Given the description of an element on the screen output the (x, y) to click on. 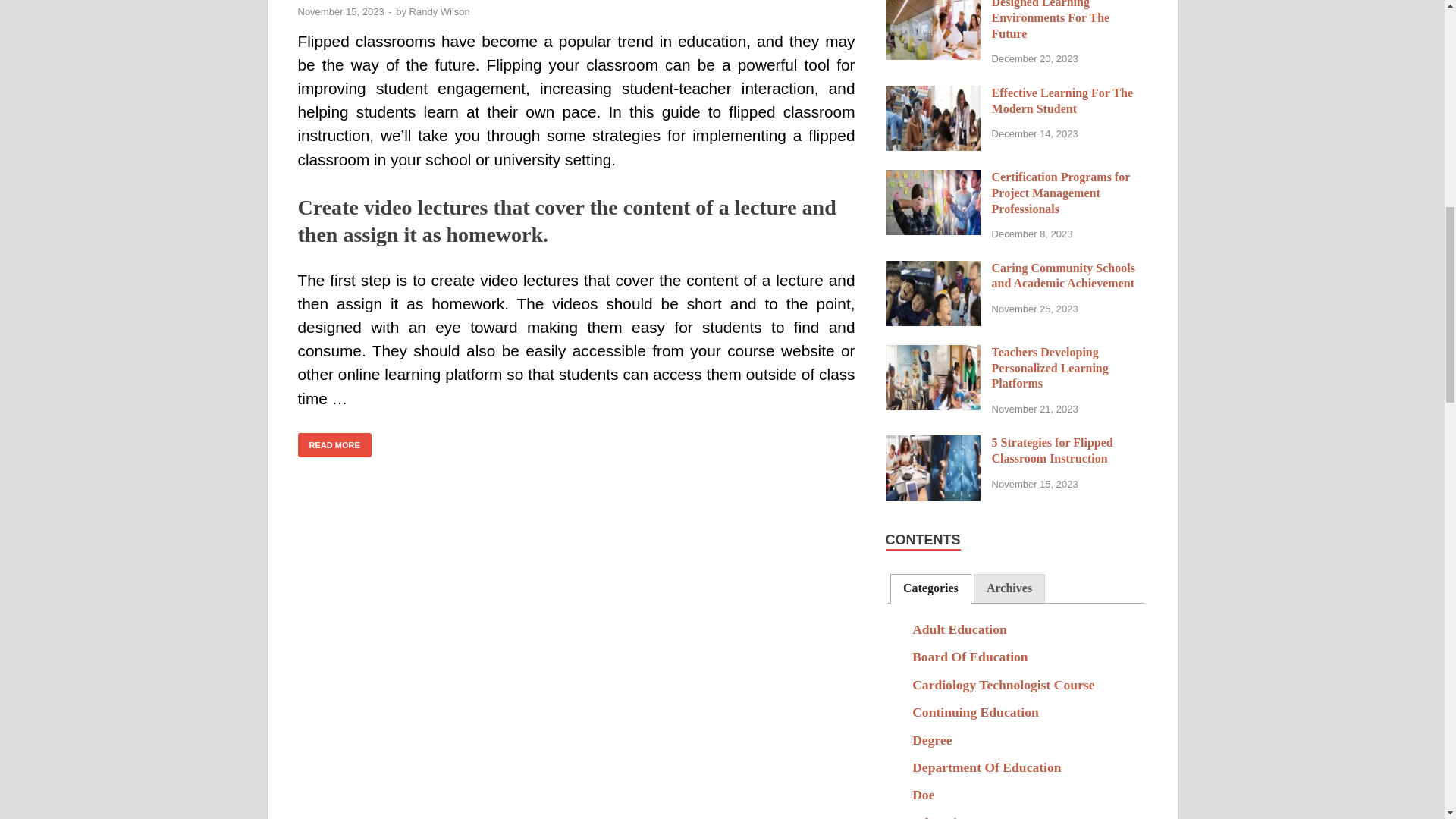
Designed Learning Environments For The Future (932, 4)
Caring Community Schools and Academic Achievement (932, 269)
Certification Programs for Project Management Professionals (932, 178)
5 Strategies for Flipped Classroom Instruction (932, 443)
Teachers Developing Personalized Learning Platforms (932, 353)
Effective Learning For The Modern Student (932, 93)
